Given the description of an element on the screen output the (x, y) to click on. 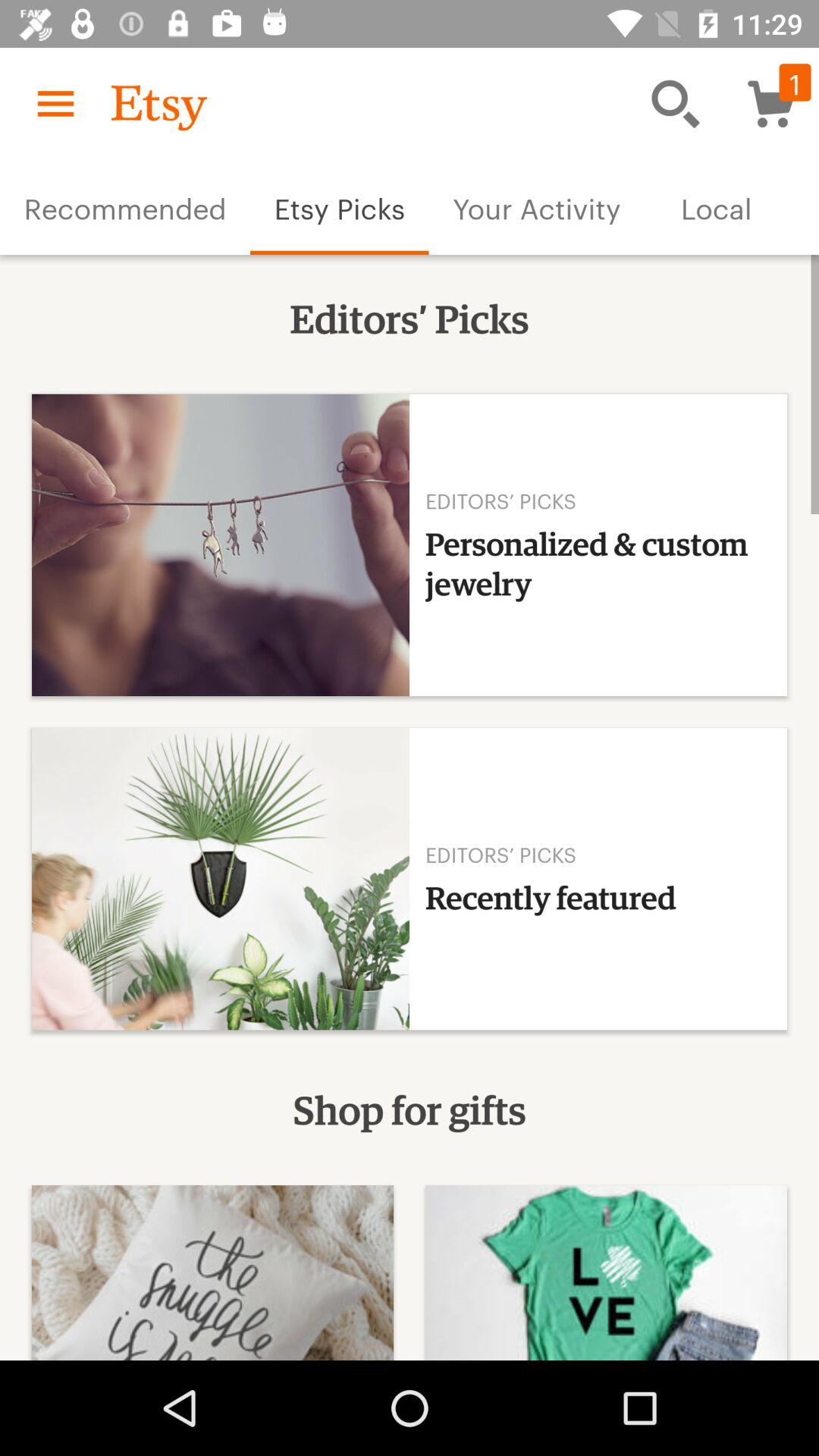
choose icon above recommended item (55, 103)
